Given the description of an element on the screen output the (x, y) to click on. 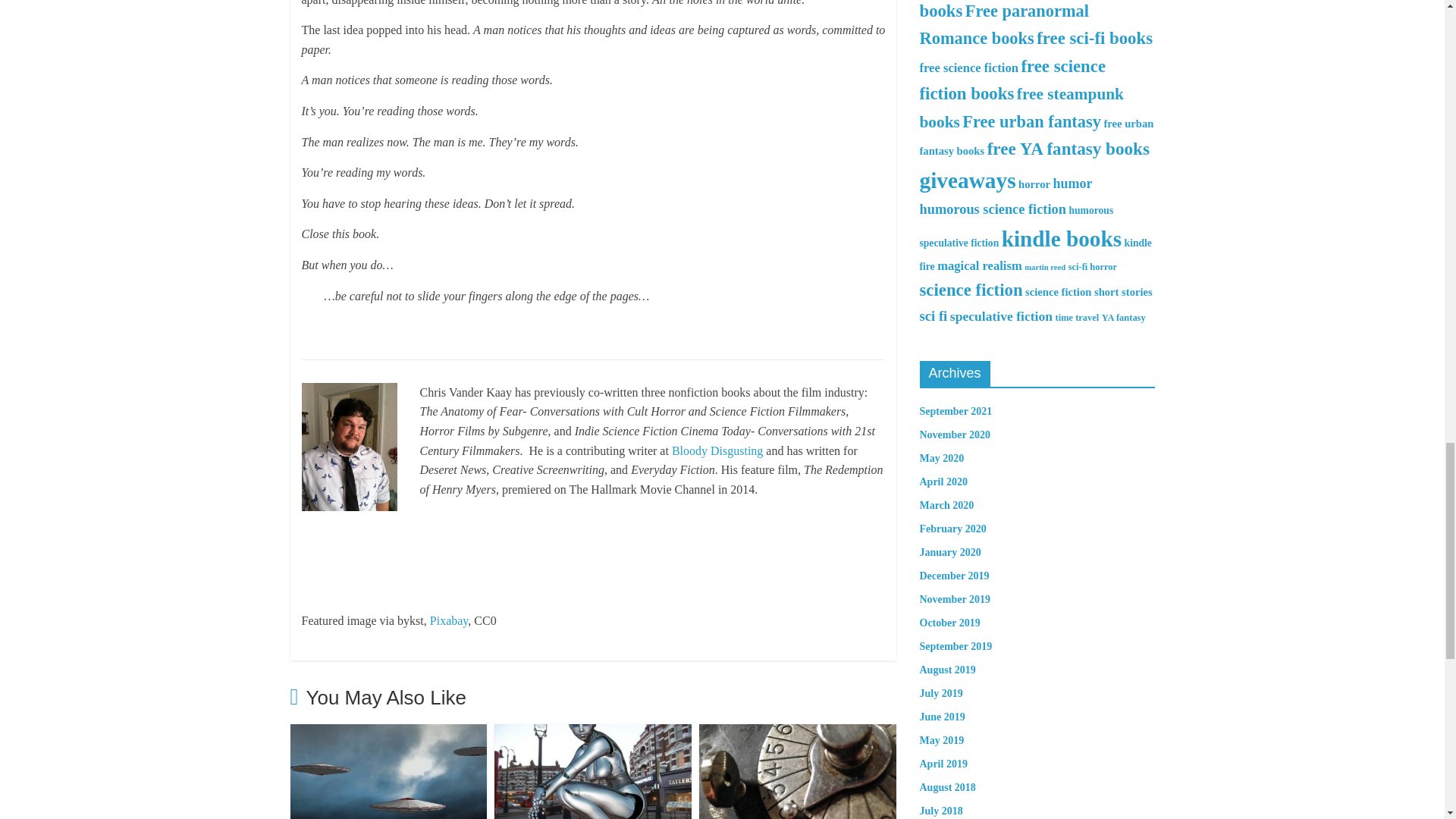
The Silver Women (593, 733)
Life, Apathy, and Extraterrestrials (387, 733)
Bloody Disgusting (716, 450)
Pixabay (448, 620)
Safe (797, 733)
